Given the description of an element on the screen output the (x, y) to click on. 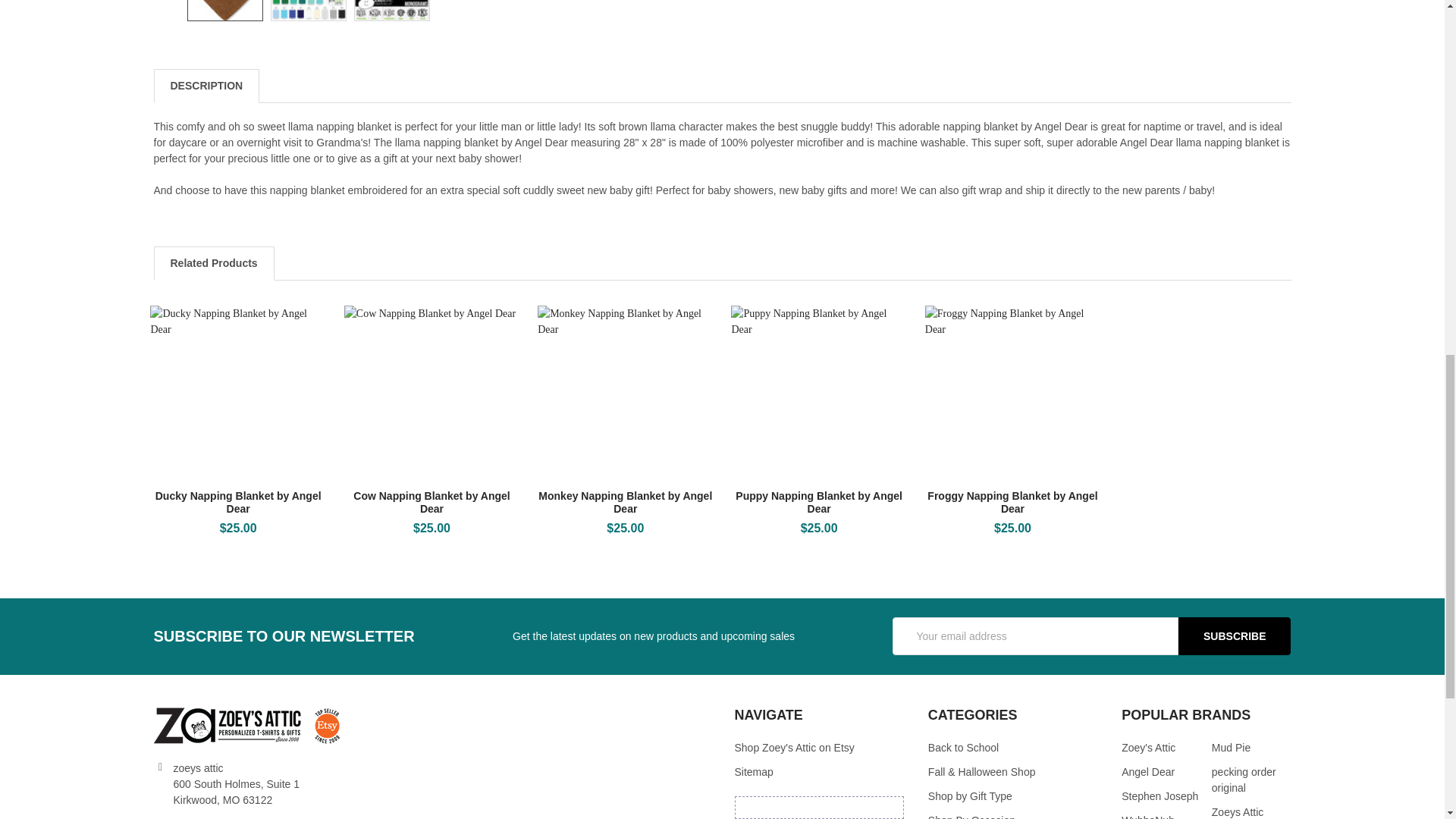
Monkey Napping Blanket by Angel Dear (625, 392)
Froggy Napping Blanket by Angel Dear (1012, 392)
Llama Napping Blanket by Angel Dear (224, 10)
Llama Napping Blanket by Angel Dear (392, 10)
Subscribe (1233, 636)
Cow Napping Blanket by Angel Dear (431, 392)
Puppy Napping Blanket by Angel Dear (817, 392)
zoey's attic personalized gifts (247, 725)
Ducky Napping Blanket by Angel Dear (236, 392)
Llama Napping Blanket by Angel Dear (308, 10)
